Given the description of an element on the screen output the (x, y) to click on. 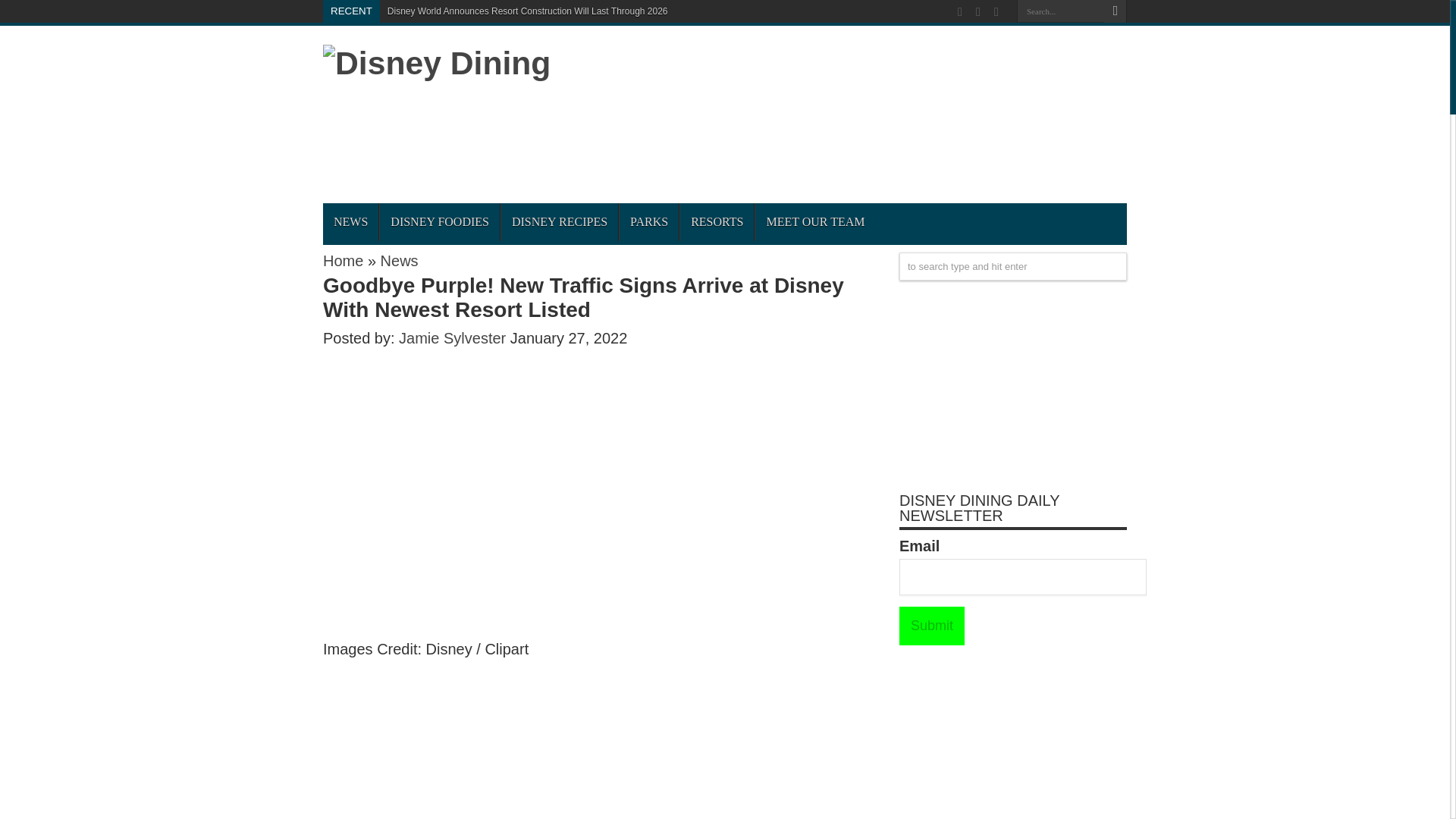
PARKS (648, 221)
MEET OUR TEAM (814, 221)
RESORTS (716, 221)
DISNEY RECIPES (558, 221)
Jamie Sylvester (454, 338)
Search (1114, 11)
Home (342, 260)
News (399, 260)
to search type and hit enter (1012, 266)
NEWS (350, 221)
Search... (1059, 11)
DISNEY FOODIES (438, 221)
Disney Dining (436, 63)
